Given the description of an element on the screen output the (x, y) to click on. 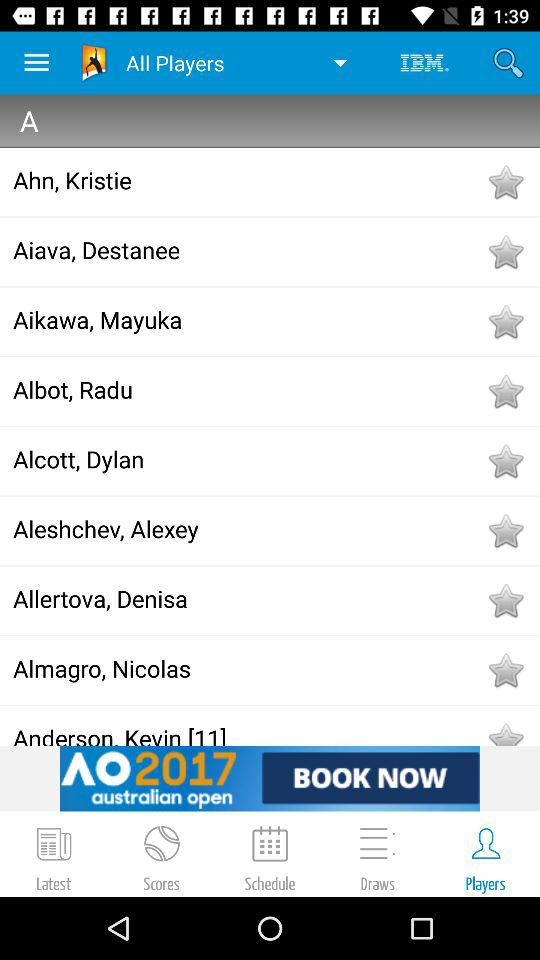
select the player (505, 252)
